Given the description of an element on the screen output the (x, y) to click on. 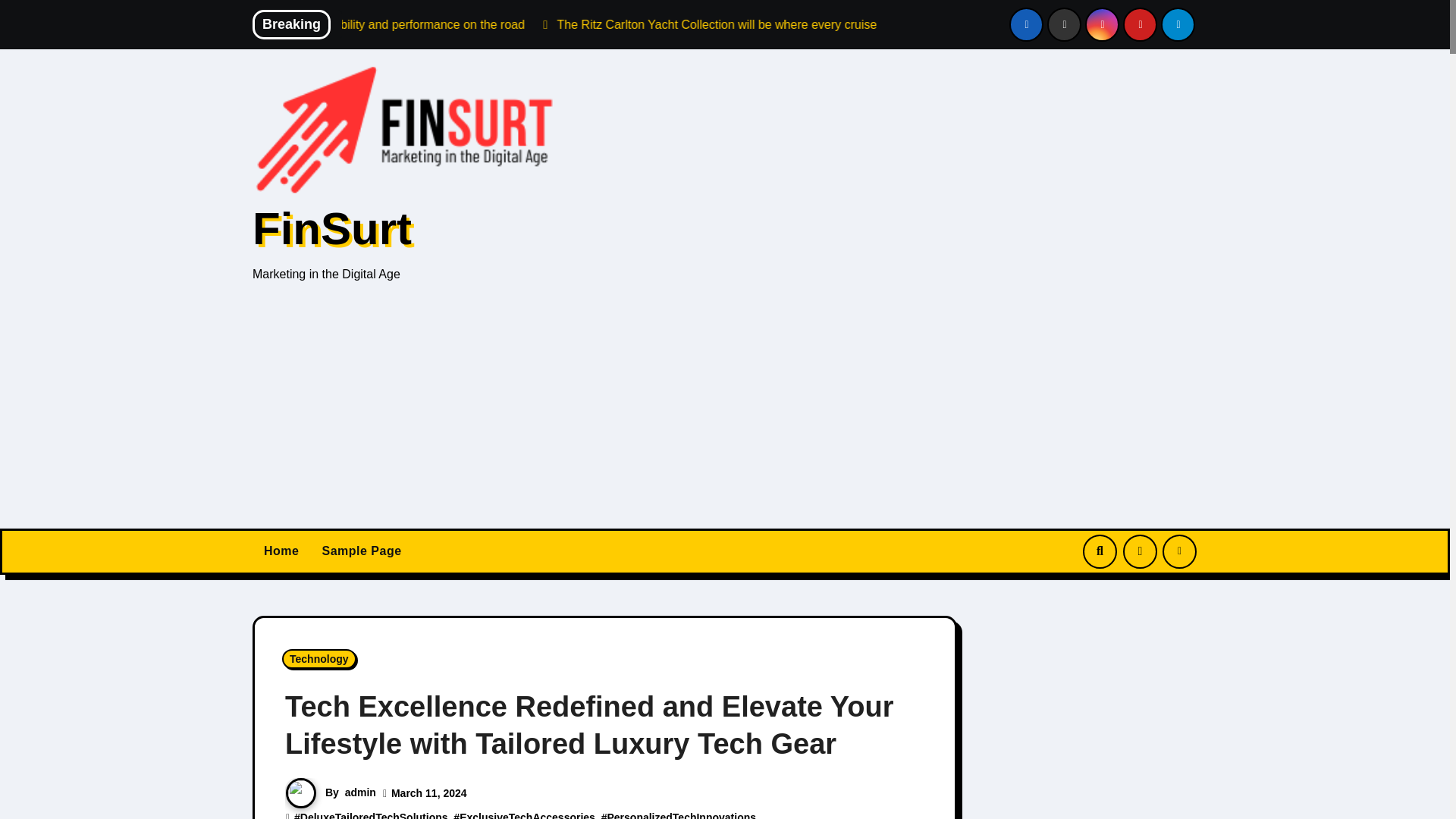
admin (360, 792)
Home (280, 551)
Home (280, 551)
March 11, 2024 (429, 793)
Technology (319, 659)
FinSurt (331, 228)
PersonalizedTechInnovations (681, 815)
DeluxeTailoredTechSolutions (373, 815)
Sample Page (361, 551)
ExclusiveTechAccessories (527, 815)
